Given the description of an element on the screen output the (x, y) to click on. 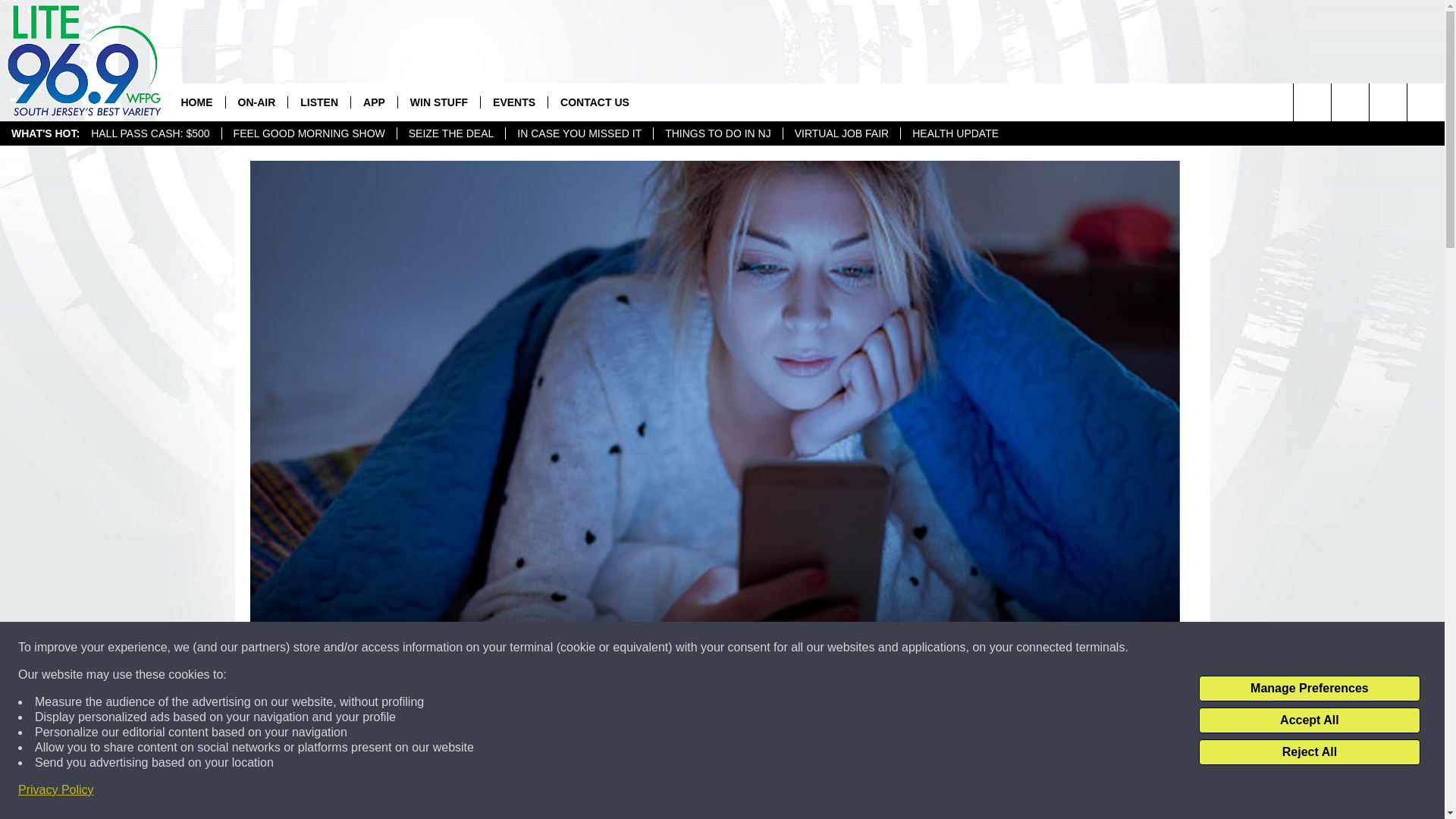
ON-AIR (255, 102)
Reject All (1309, 751)
HOME (196, 102)
APP (373, 102)
HEALTH UPDATE (954, 133)
WIN STUFF (438, 102)
IN CASE YOU MISSED IT (578, 133)
Accept All (1309, 720)
LISTEN (318, 102)
Share on Twitter (912, 791)
FEEL GOOD MORNING SHOW (308, 133)
Manage Preferences (1309, 688)
Privacy Policy (55, 789)
THINGS TO DO IN NJ (717, 133)
VIRTUAL JOB FAIR (841, 133)
